Given the description of an element on the screen output the (x, y) to click on. 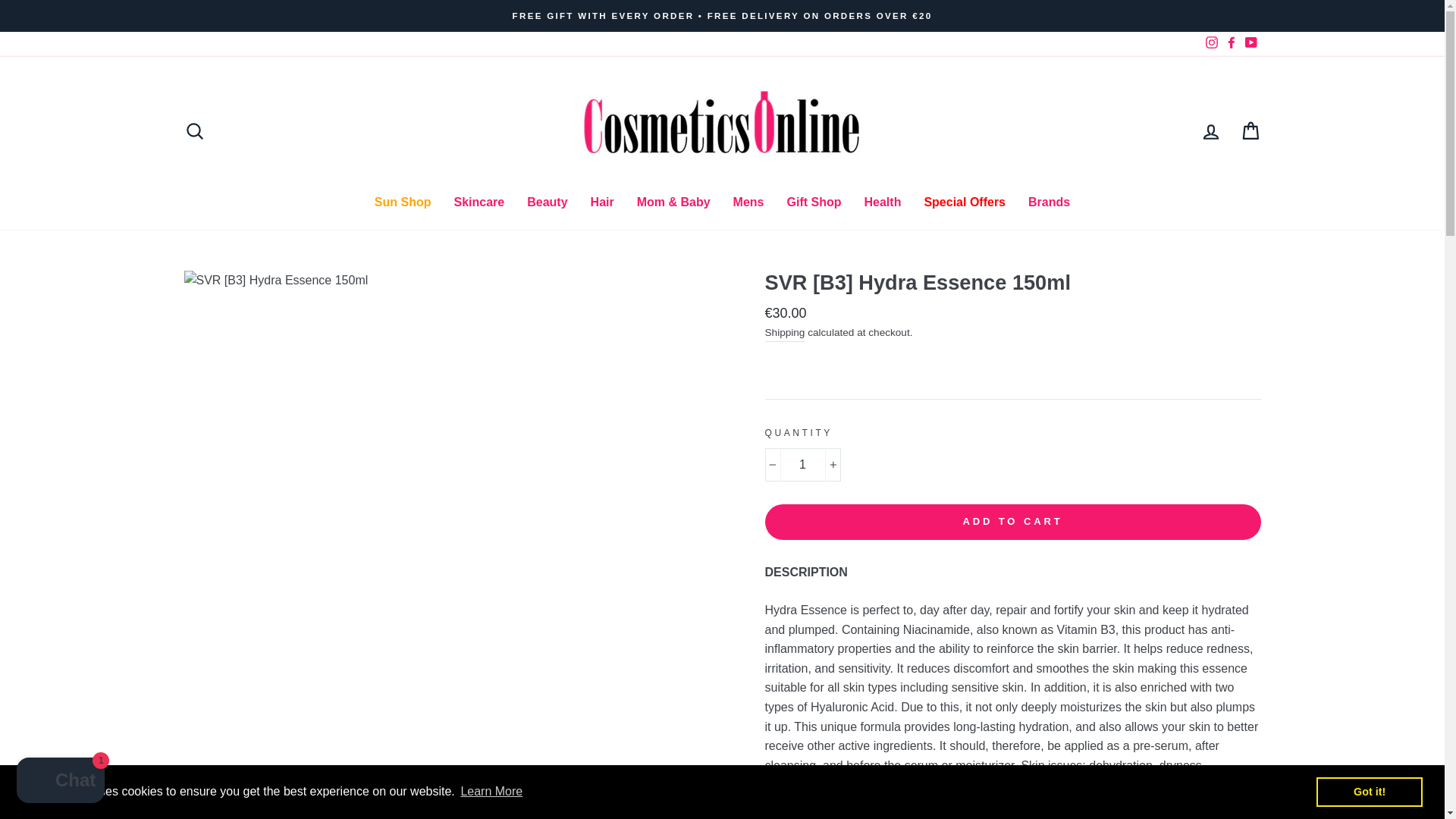
Learn More (491, 791)
Shopify online store chat (60, 781)
Got it! (1369, 791)
1 (802, 464)
